Given the description of an element on the screen output the (x, y) to click on. 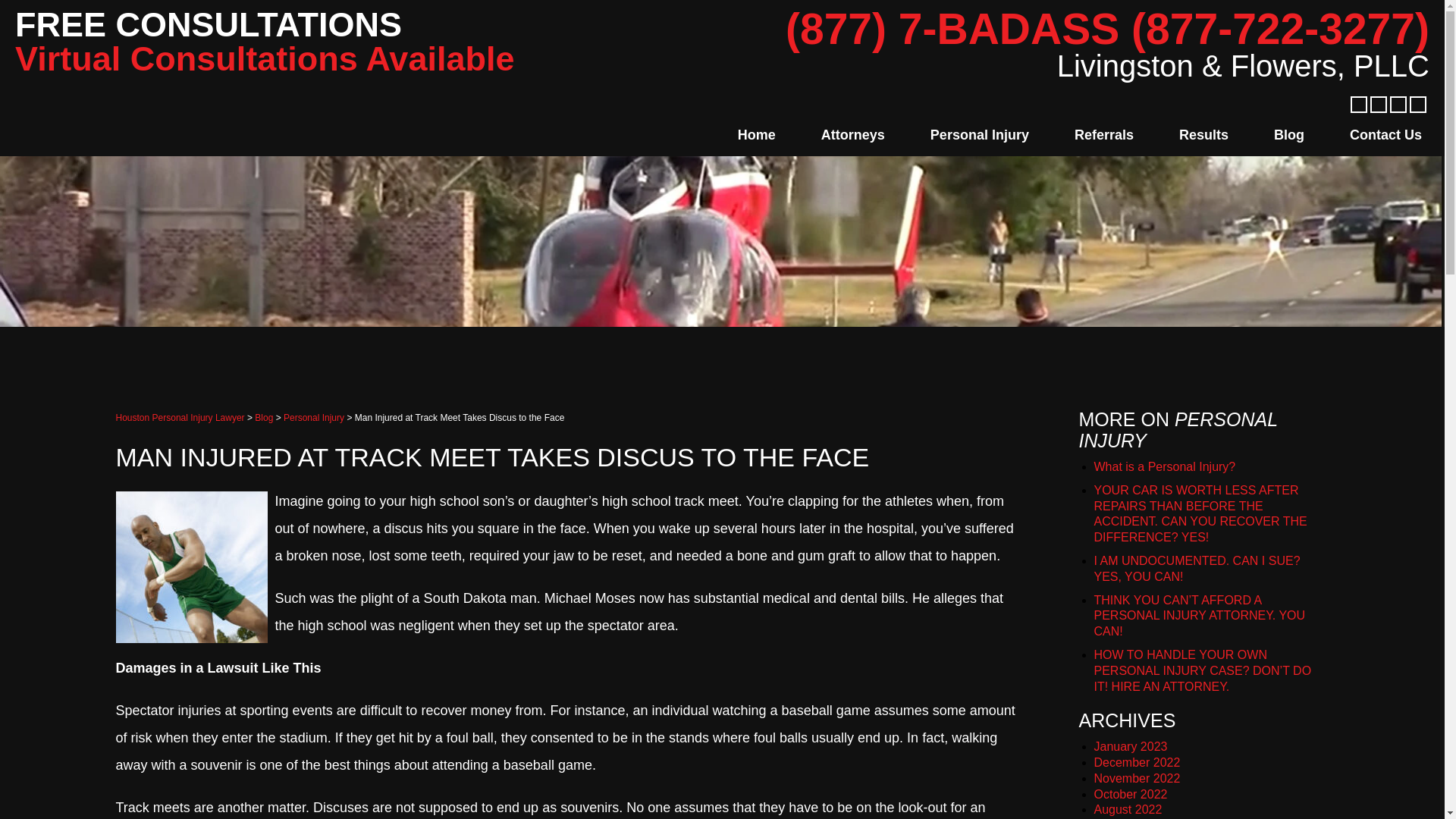
Attorneys (852, 134)
Home (755, 134)
Personal Injury (979, 134)
